Given the description of an element on the screen output the (x, y) to click on. 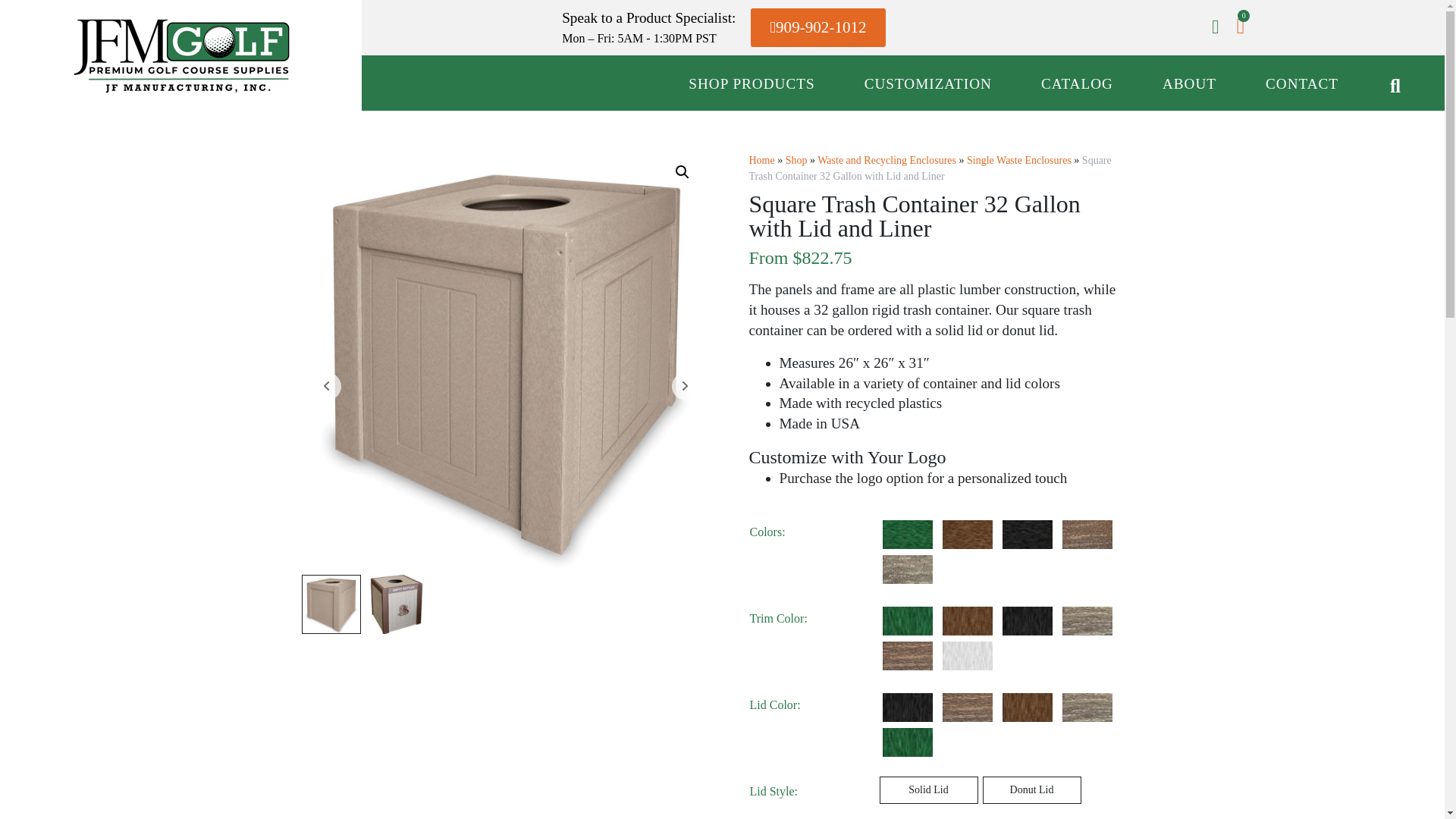
CONTACT (1302, 83)
Shop (797, 160)
909-902-1012 (818, 27)
ABOUT (1189, 83)
SHOP PRODUCTS (750, 83)
Home (761, 160)
CATALOG (1077, 83)
CUSTOMIZATION (927, 83)
Waste and Recycling Enclosures (886, 160)
